Given the description of an element on the screen output the (x, y) to click on. 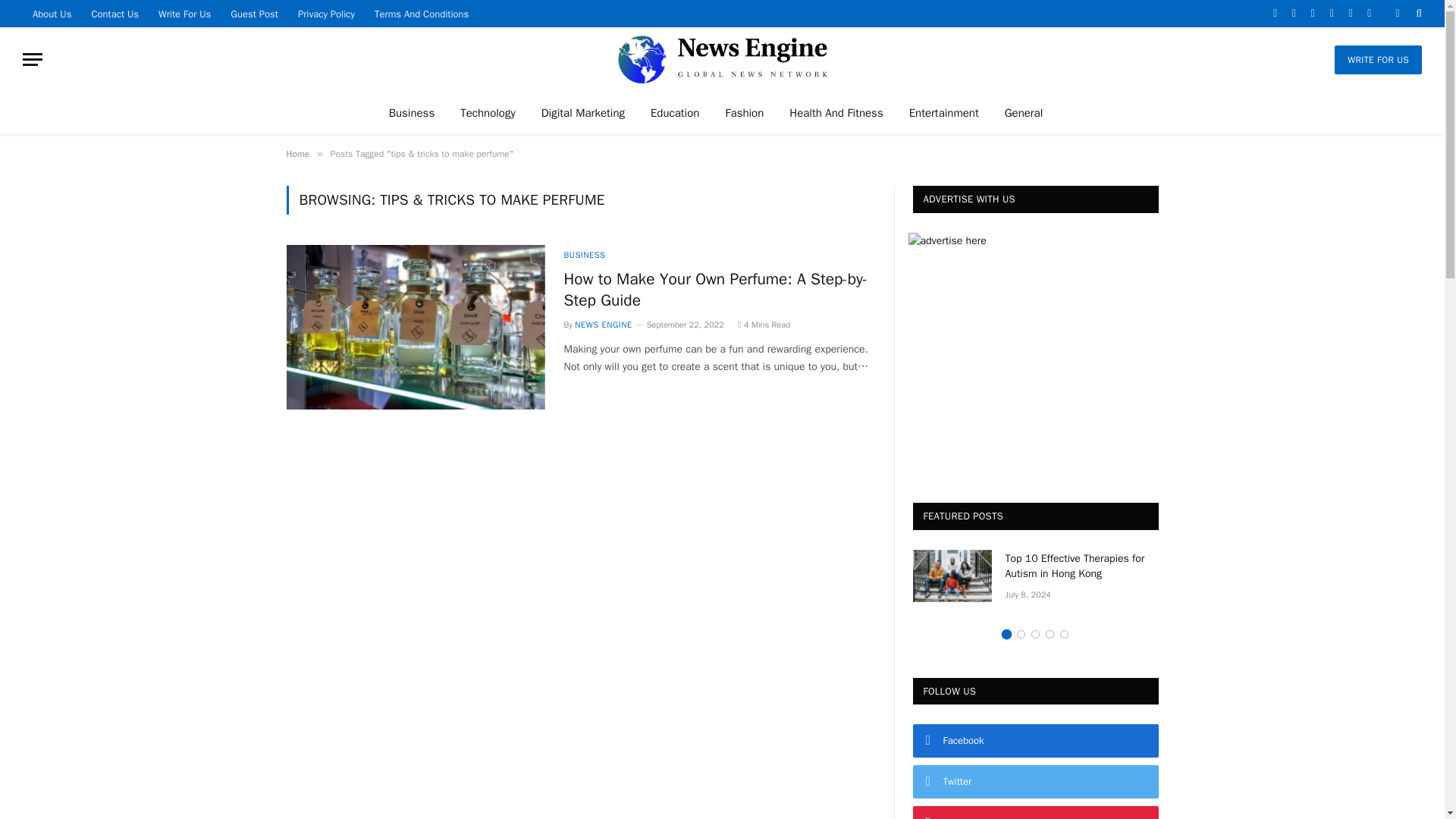
News Engine (722, 59)
Switch to Dark Design - easier on eyes. (1397, 13)
